Given the description of an element on the screen output the (x, y) to click on. 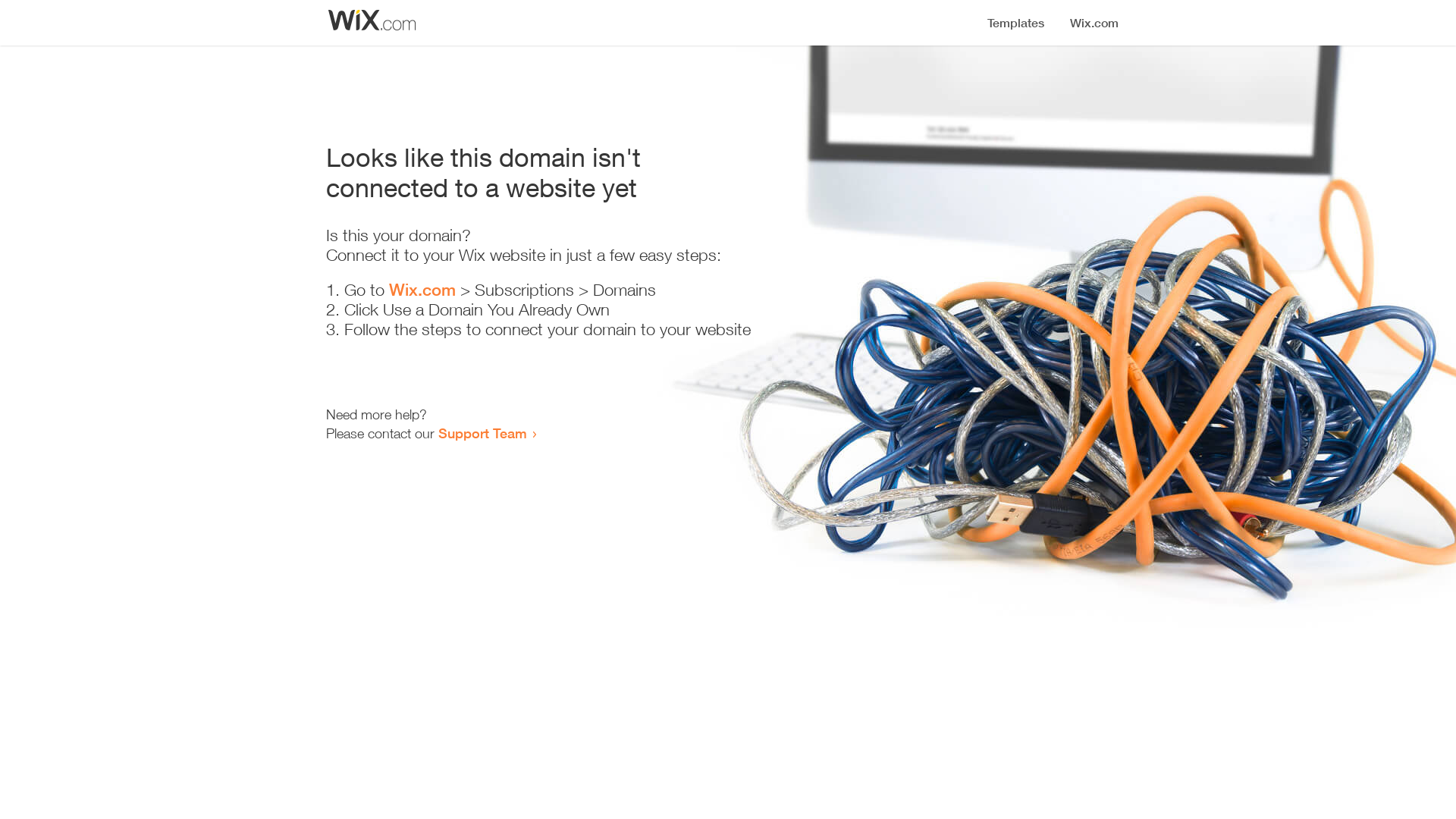
Wix.com Element type: text (422, 289)
Support Team Element type: text (482, 432)
